Given the description of an element on the screen output the (x, y) to click on. 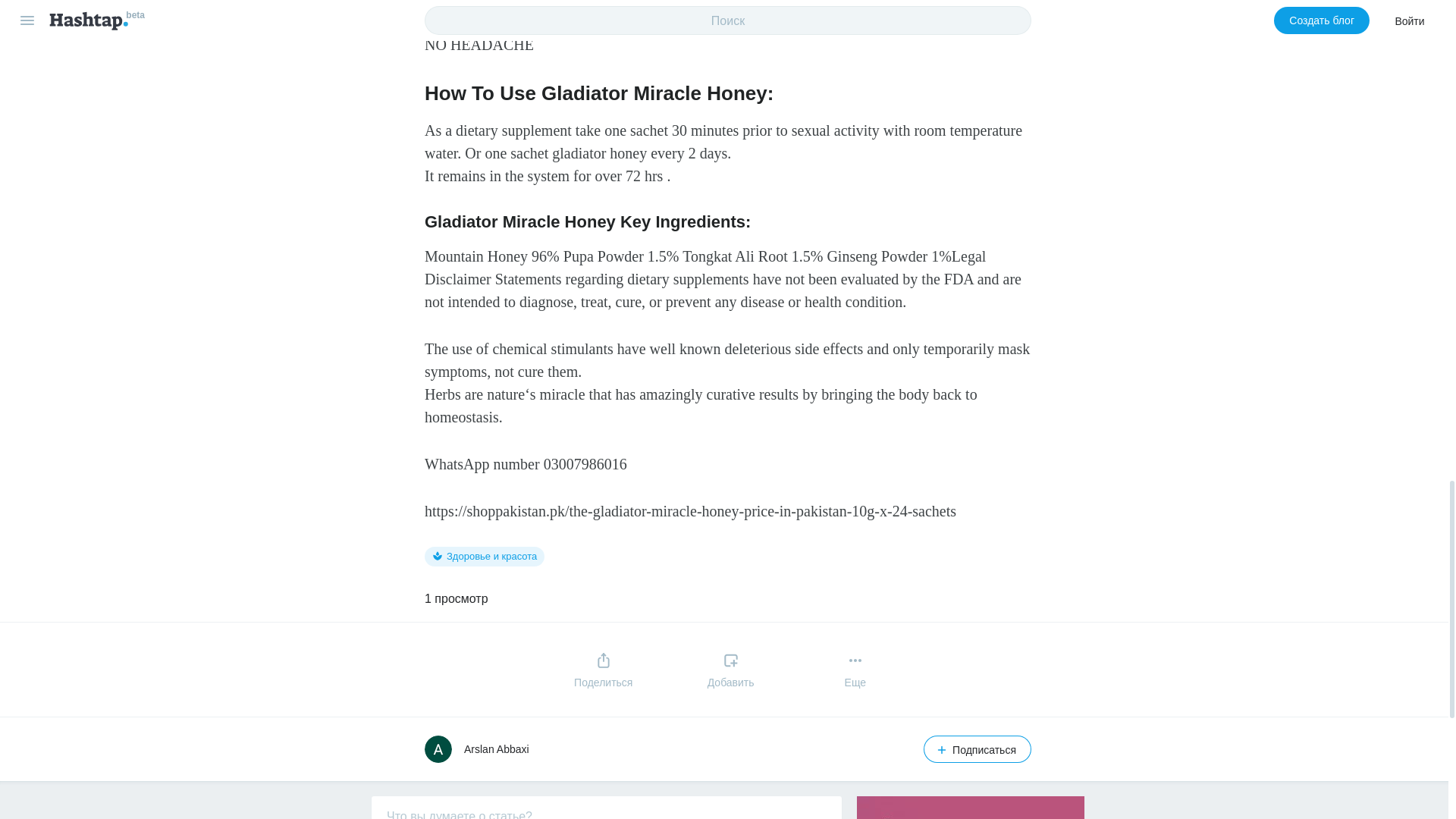
Arslan Abbaxi (496, 748)
A (438, 748)
